Given the description of an element on the screen output the (x, y) to click on. 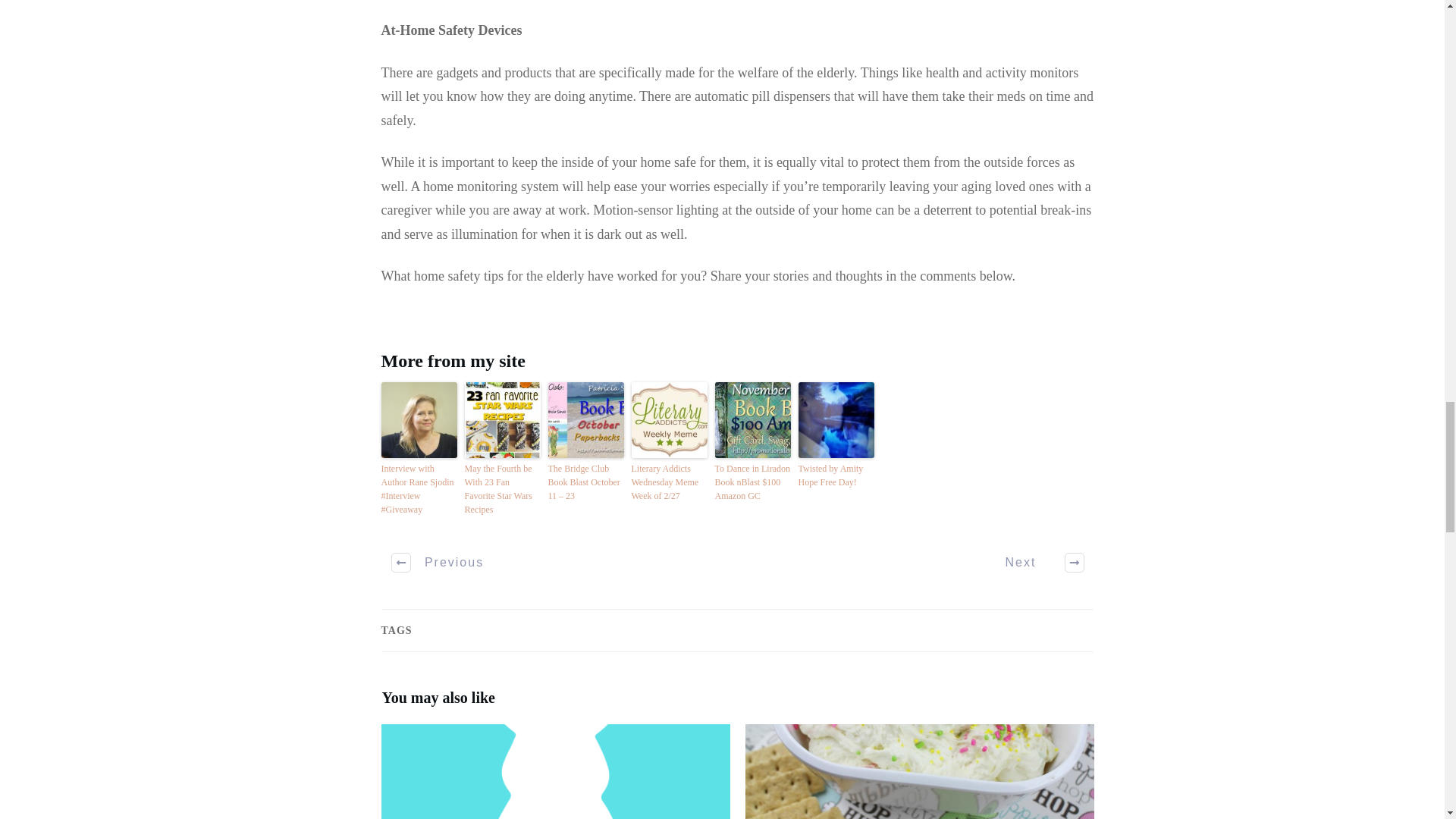
May the Fourth be With 23 Fan Favorite Star Wars Recipes (502, 488)
